Given the description of an element on the screen output the (x, y) to click on. 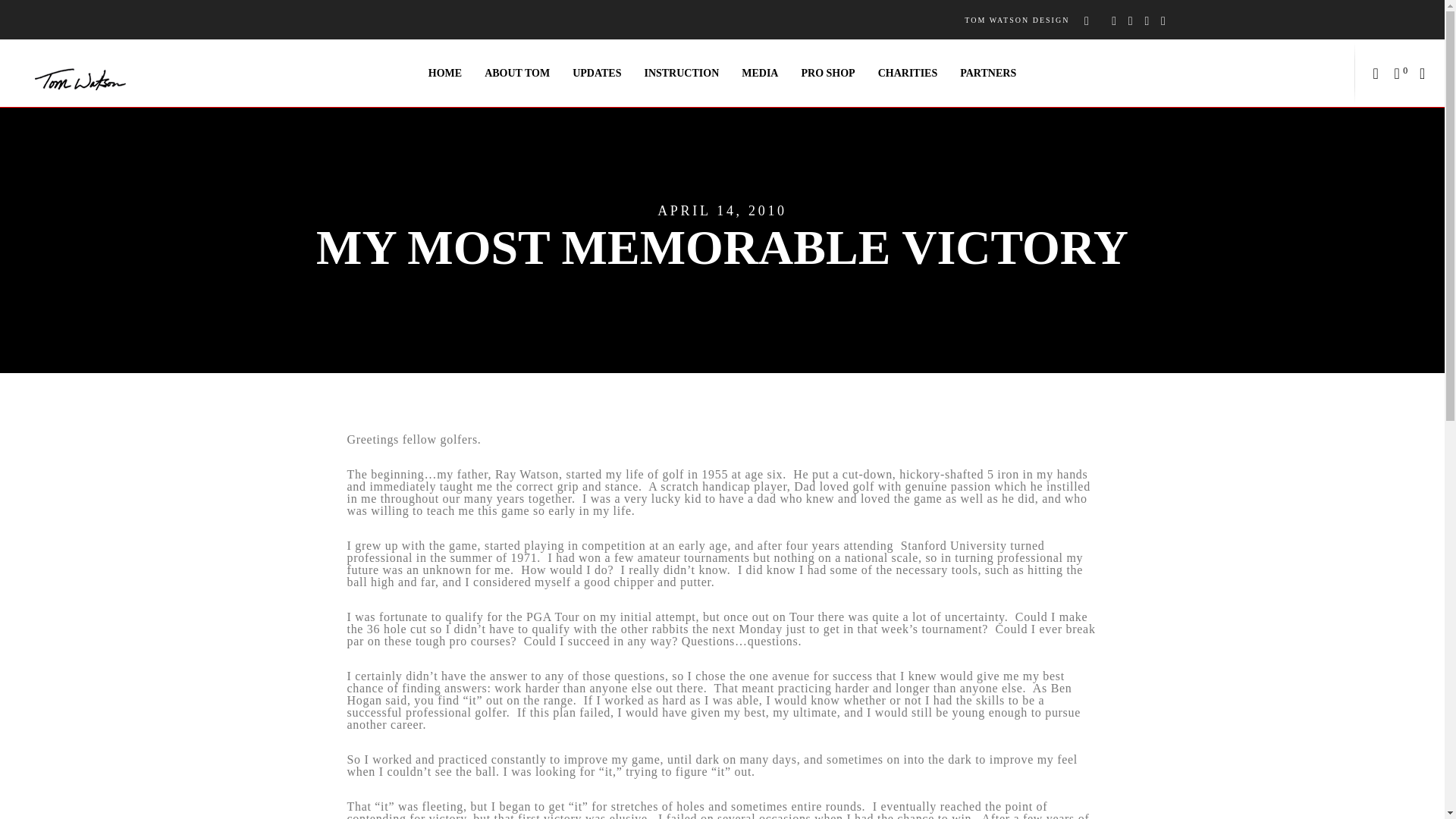
INSTRUCTION (680, 73)
ABOUT TOM (516, 73)
PARTNERS (988, 73)
PRO SHOP (827, 73)
TOM WATSON DESIGN (1015, 19)
UPDATES (595, 73)
CHARITIES (907, 73)
